Given the description of an element on the screen output the (x, y) to click on. 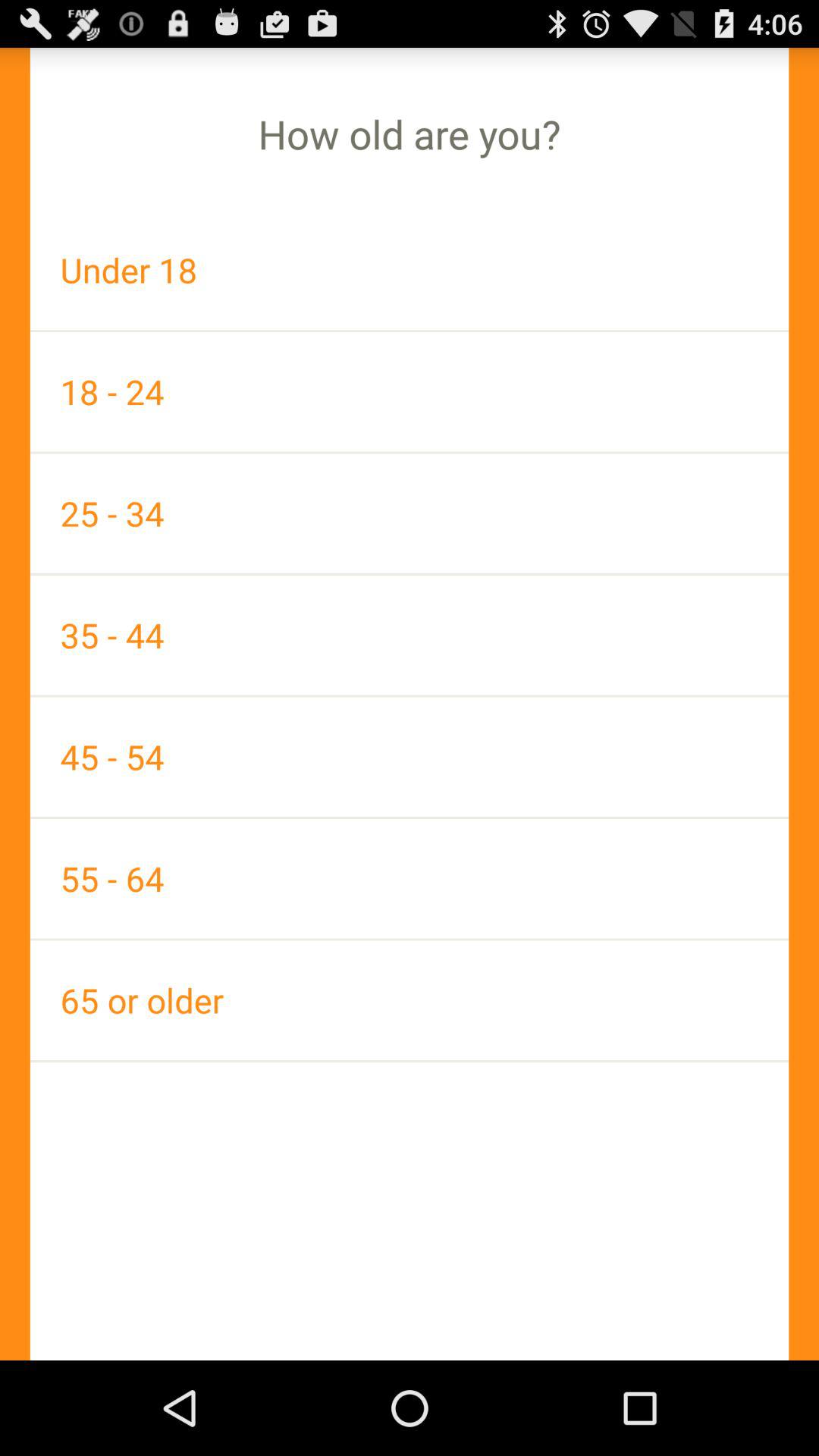
open 55 - 64 app (409, 878)
